Given the description of an element on the screen output the (x, y) to click on. 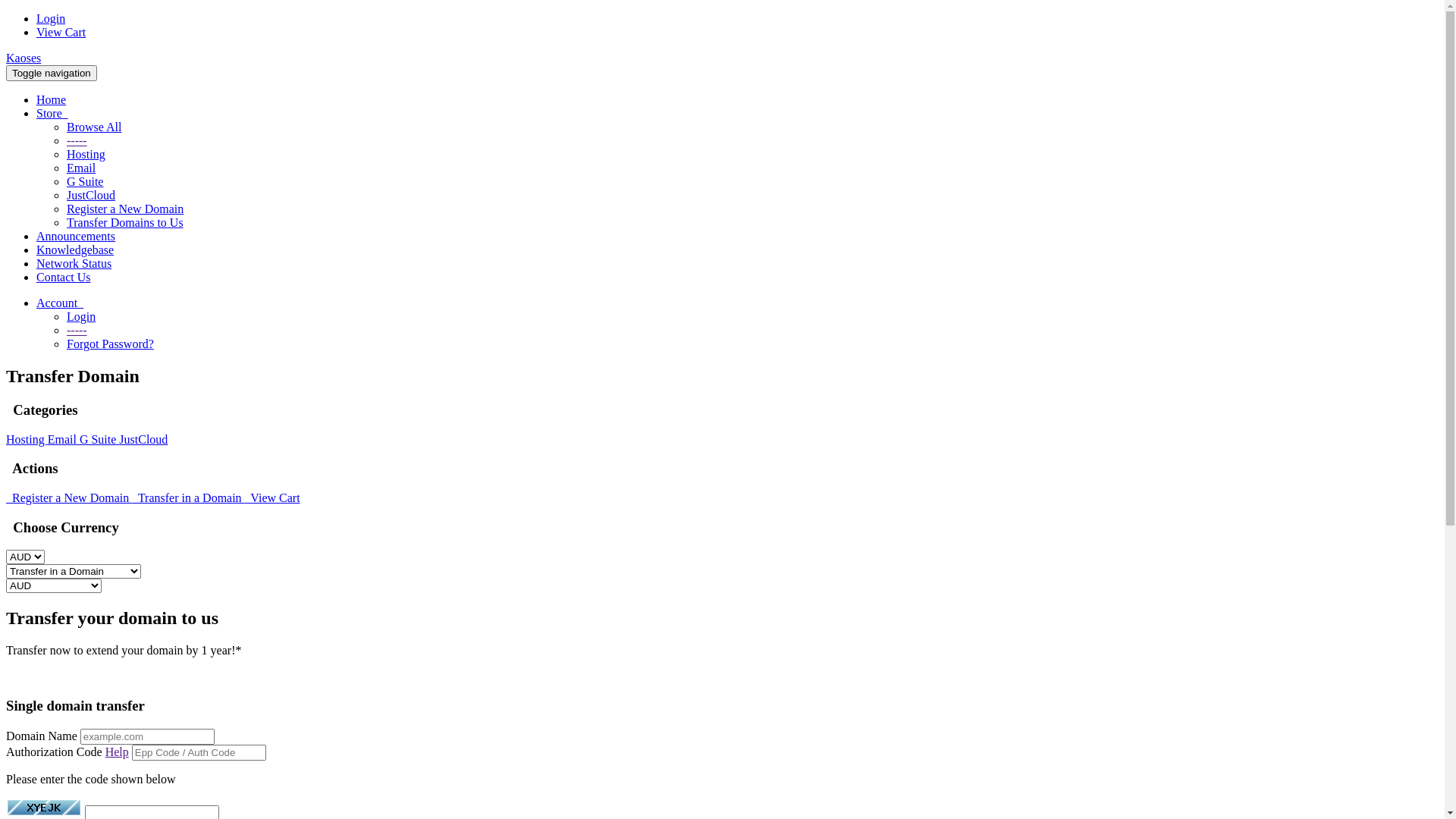
  View Cart Element type: text (272, 497)
Account   Element type: text (59, 302)
Browse All Element type: text (93, 126)
  Register a New Domain Element type: text (68, 497)
Required Element type: hover (198, 752)
Email Element type: text (80, 167)
JustCloud Element type: text (90, 194)
Login Element type: text (50, 18)
Store   Element type: text (52, 112)
Announcements Element type: text (75, 235)
Forgot Password? Element type: text (109, 343)
Register a New Domain Element type: text (124, 208)
Hosting Element type: text (26, 439)
Email Element type: text (63, 439)
Network Status Element type: text (73, 263)
Contact Us Element type: text (63, 276)
Home Element type: text (50, 99)
Kaoses Element type: text (23, 57)
Please enter your domain Element type: hover (147, 736)
JustCloud Element type: text (143, 439)
  Transfer in a Domain Element type: text (187, 497)
Hosting Element type: text (85, 153)
View Cart Element type: text (60, 31)
----- Element type: text (76, 329)
Transfer Domains to Us Element type: text (124, 222)
Help Element type: text (116, 751)
Toggle navigation Element type: text (51, 73)
Login Element type: text (80, 316)
Knowledgebase Element type: text (74, 249)
G Suite Element type: text (84, 181)
G Suite Element type: text (99, 439)
----- Element type: text (76, 140)
